Given the description of an element on the screen output the (x, y) to click on. 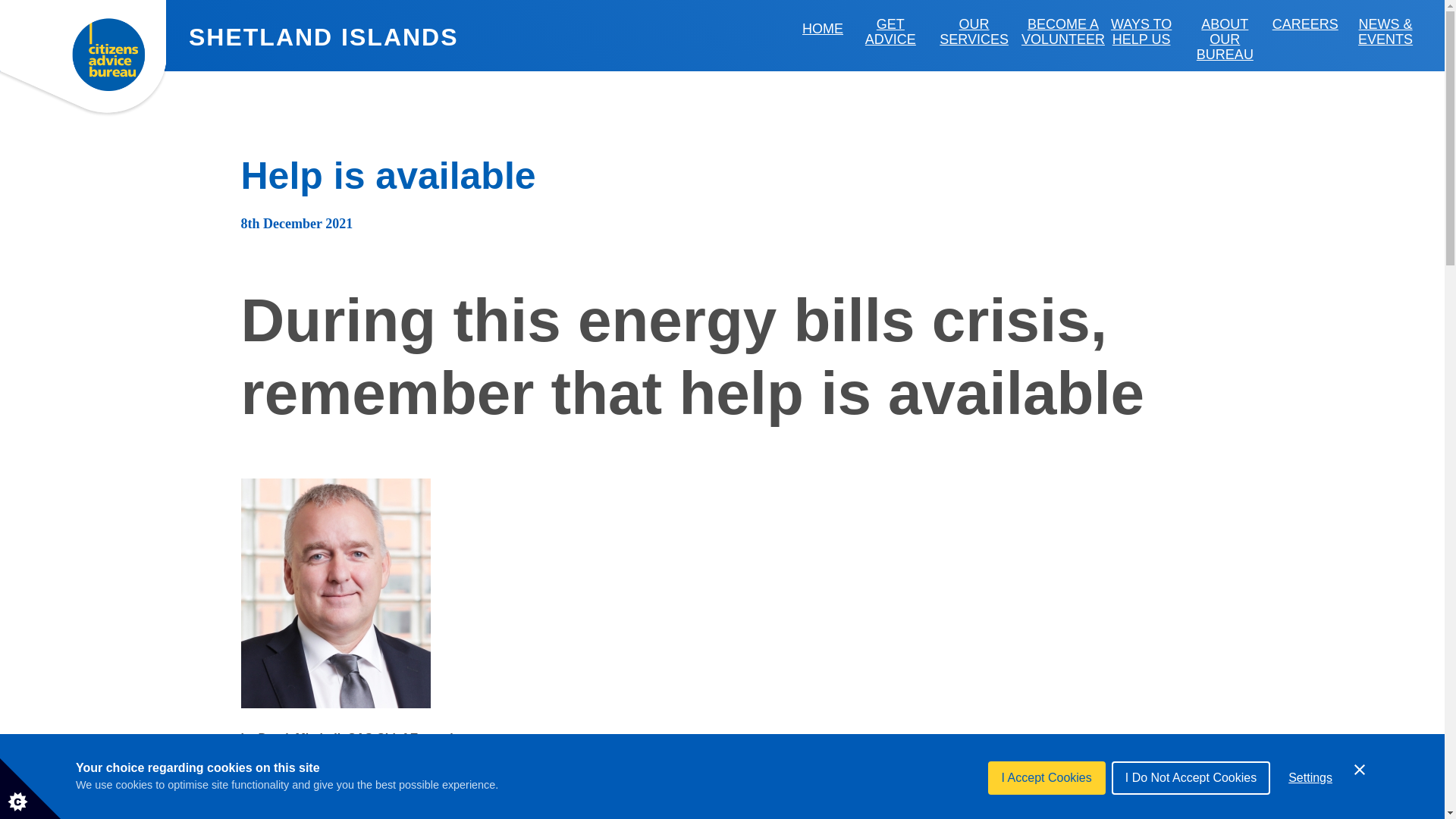
I Accept Cookies (1046, 807)
ABOUT OUR BUREAU (1224, 39)
GET ADVICE (889, 31)
I Do Not Accept Cookies (1190, 802)
BECOME A VOLUNTEER (1063, 31)
Settings (1309, 798)
Big Energy Saving Winter (665, 804)
CAREERS (1305, 24)
WAYS TO HELP US (1141, 31)
OUR SERVICES (973, 31)
Skip to main content (94, 7)
HOME (822, 28)
